Given the description of an element on the screen output the (x, y) to click on. 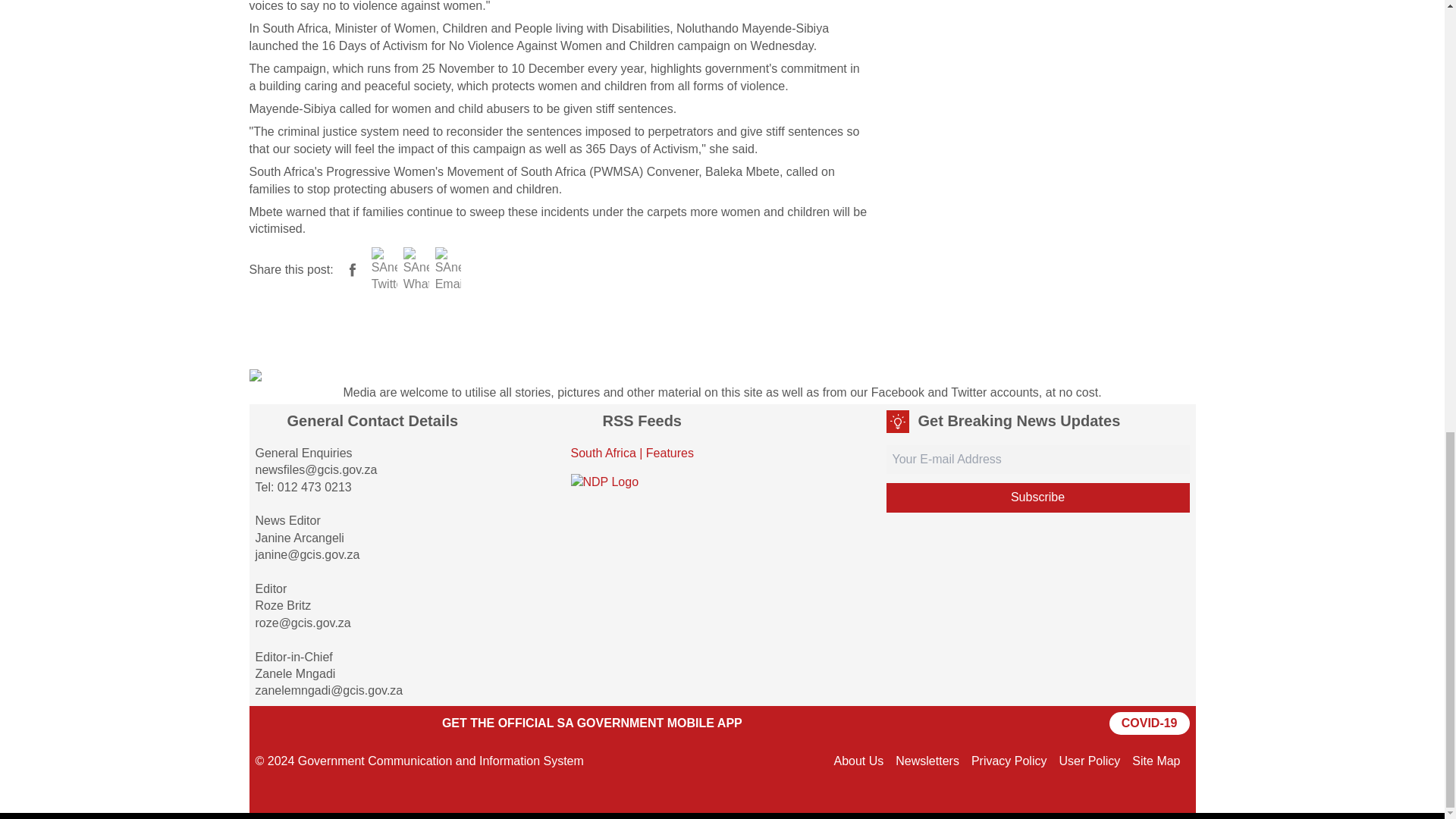
Subscribe (1037, 497)
Newsletters (927, 760)
About Us (857, 760)
Download from the Google Play Store (292, 722)
Share on Facebook (352, 269)
Subscribe (1037, 497)
Privacy Policy (1008, 760)
COVID-19 (1149, 722)
South Africa (602, 452)
User Policy (1088, 760)
